Given the description of an element on the screen output the (x, y) to click on. 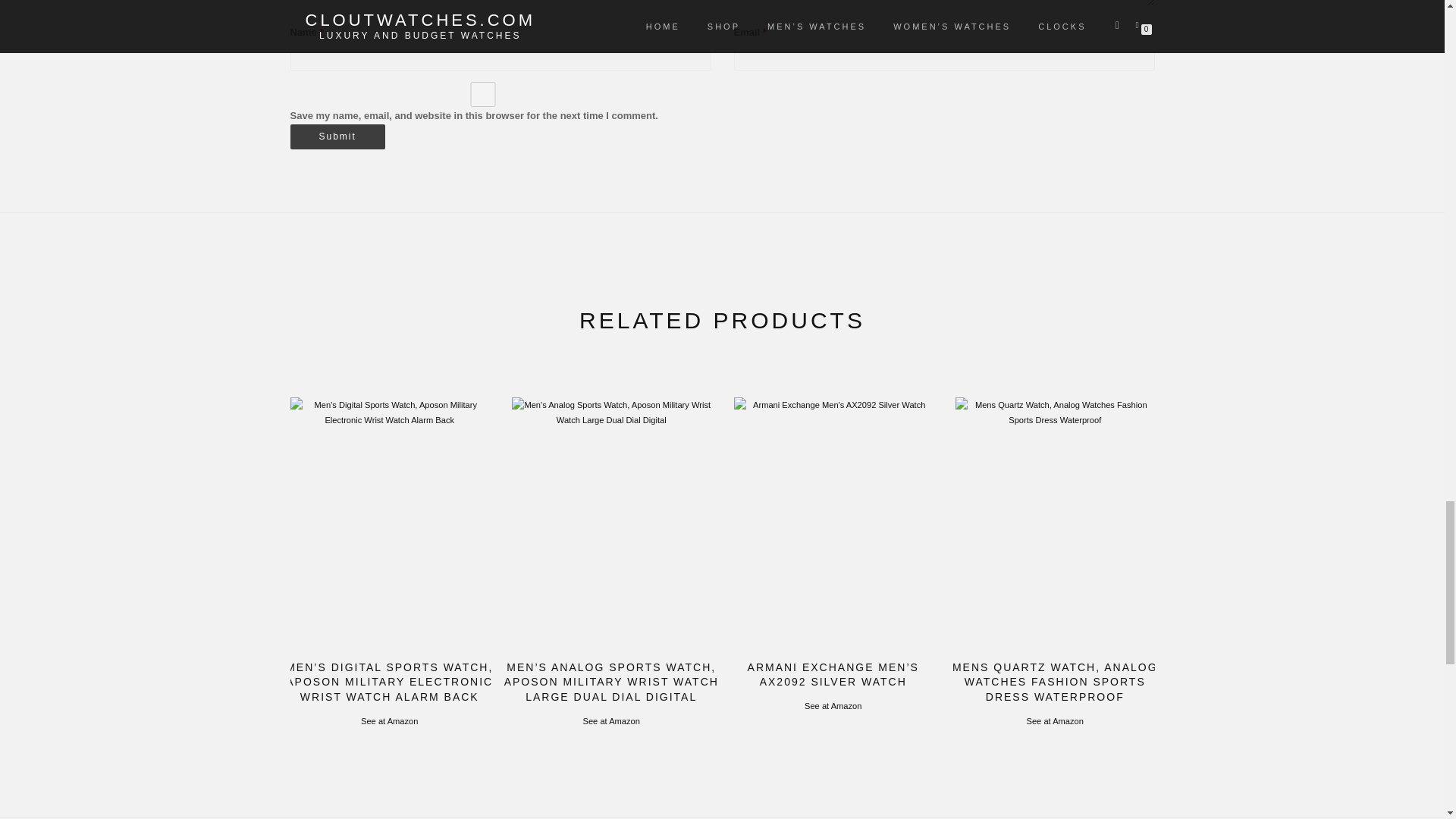
yes (482, 94)
Armani Exchange Men's AX2092  Silver  Watch (832, 522)
See at Amazon (389, 720)
Submit (336, 136)
Submit (336, 136)
